Given the description of an element on the screen output the (x, y) to click on. 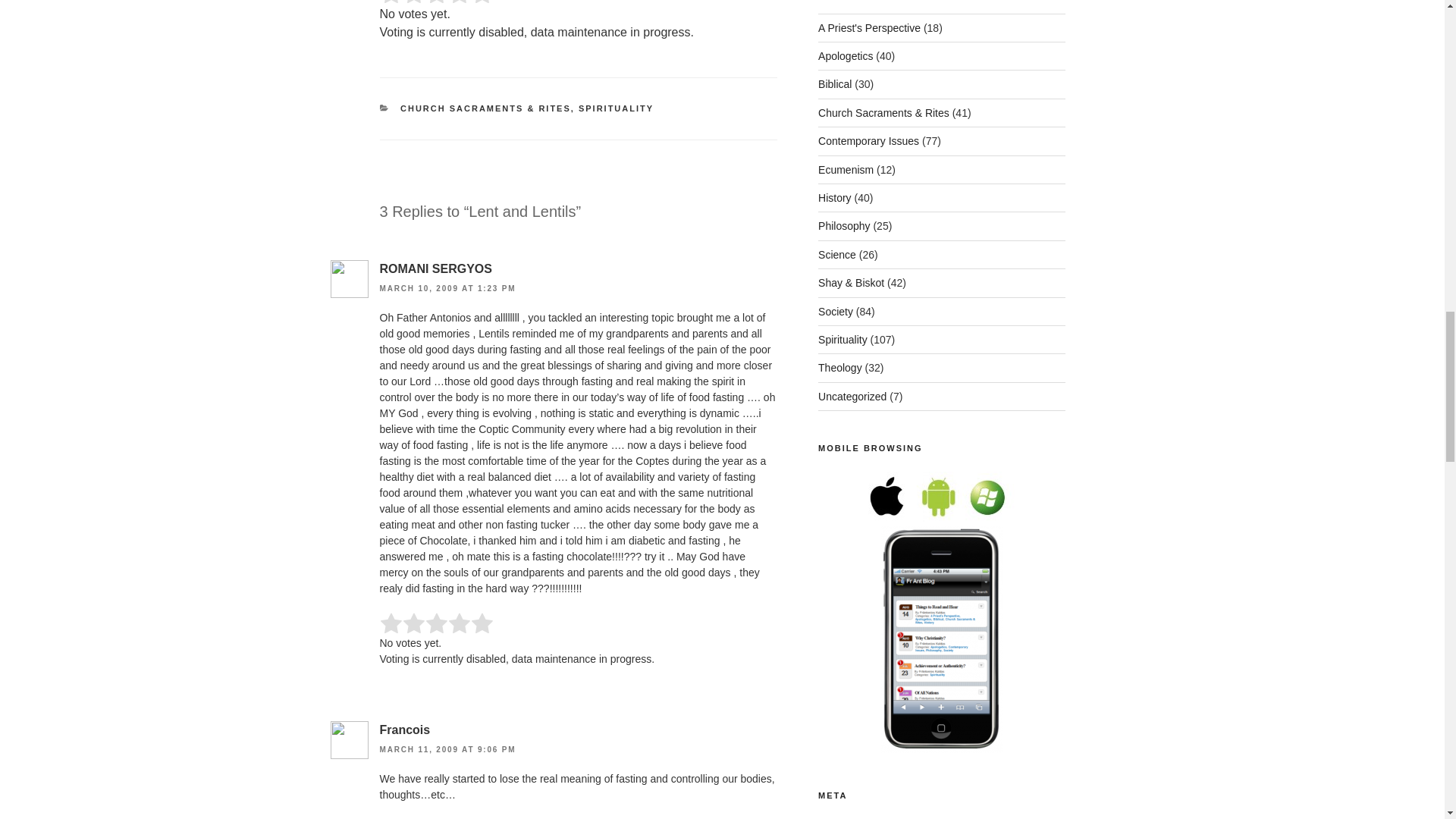
Contemporary Issues (868, 141)
History (834, 197)
SPIRITUALITY (615, 108)
A Priest's Perspective (869, 28)
MARCH 10, 2009 AT 1:23 PM (446, 288)
Theology (839, 367)
Science (837, 254)
Philosophy (844, 225)
Uncategorized (852, 396)
Apologetics (845, 55)
MARCH 11, 2009 AT 9:06 PM (446, 749)
Society (835, 311)
Spirituality (842, 339)
Biblical (834, 83)
Ecumenism (845, 169)
